Given the description of an element on the screen output the (x, y) to click on. 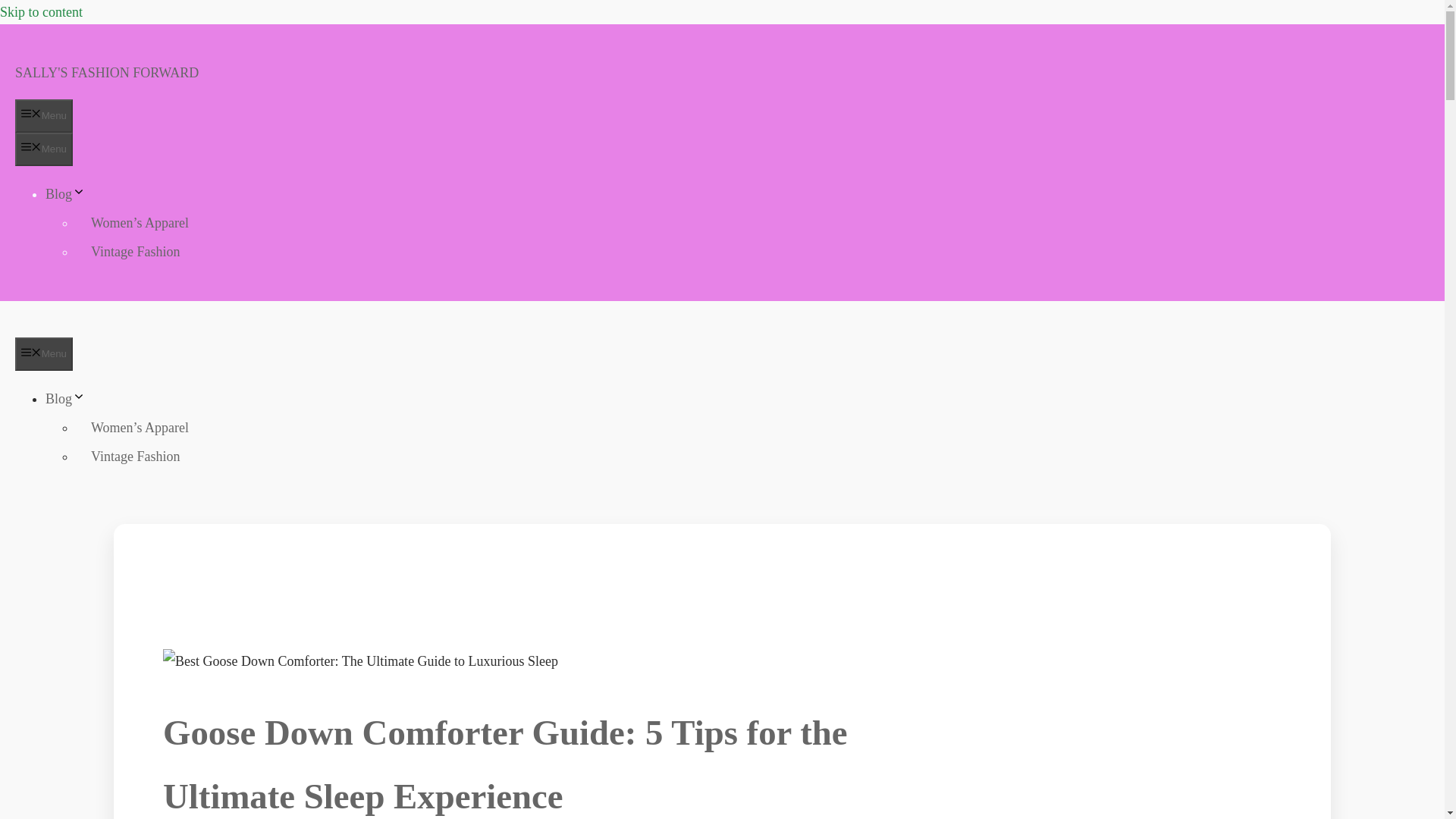
Blog (65, 193)
Menu (43, 354)
Menu (43, 149)
Blog (65, 398)
Skip to content (41, 11)
Sally's Fashion Forward (128, 324)
Menu (43, 115)
Vintage Fashion (135, 456)
SALLY'S FASHION FORWARD (106, 72)
Vintage Fashion (135, 251)
Skip to content (41, 11)
